Given the description of an element on the screen output the (x, y) to click on. 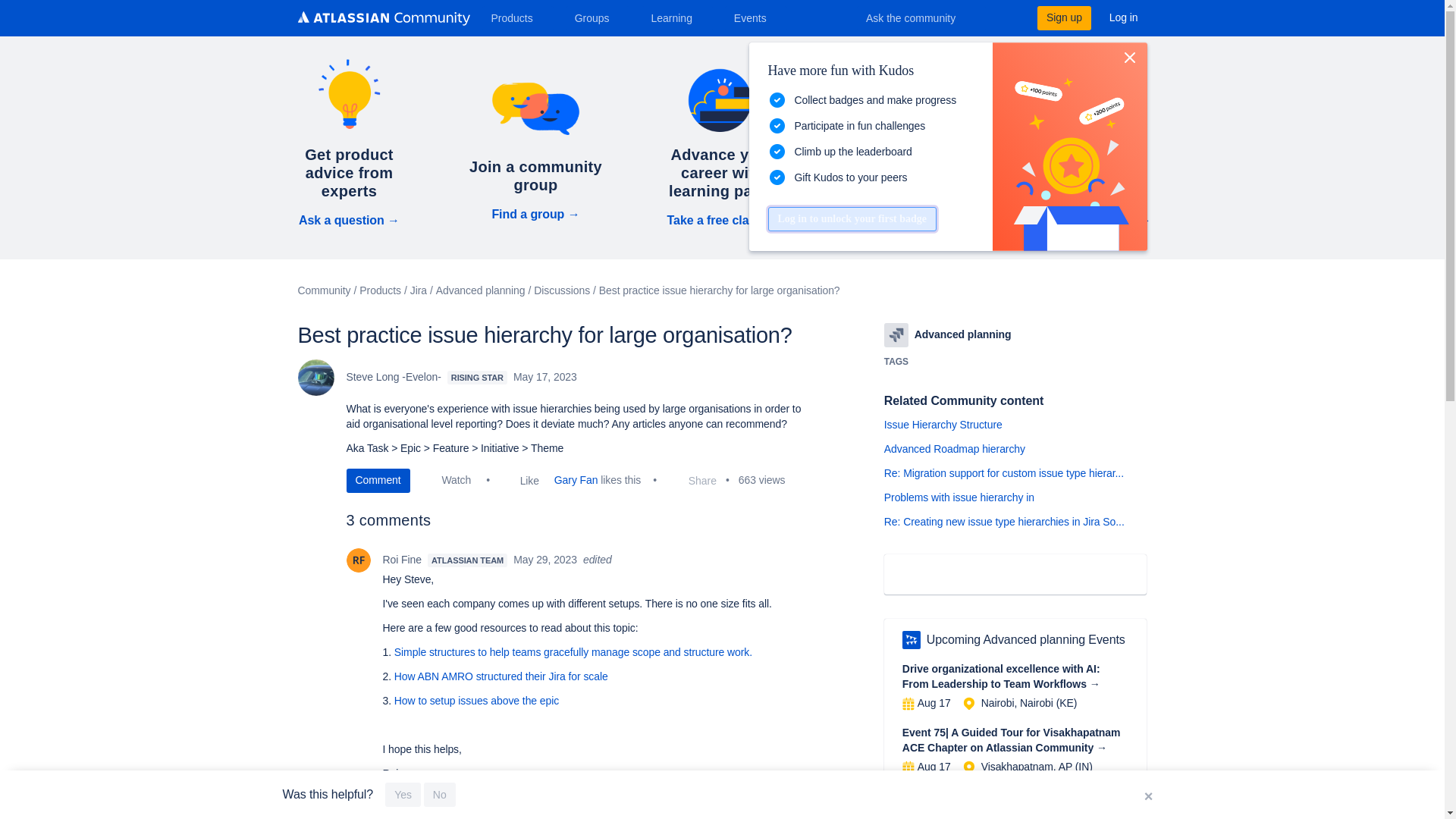
Events (756, 17)
Sign up (1063, 17)
Atlassian Community logo (382, 19)
Atlassian Community logo (382, 18)
Log in (1123, 17)
Learning (676, 17)
Portfolio for Jira (895, 334)
Log in to unlock your first badge (851, 218)
AUG Leaders (911, 639)
Roi Fine (357, 559)
